Given the description of an element on the screen output the (x, y) to click on. 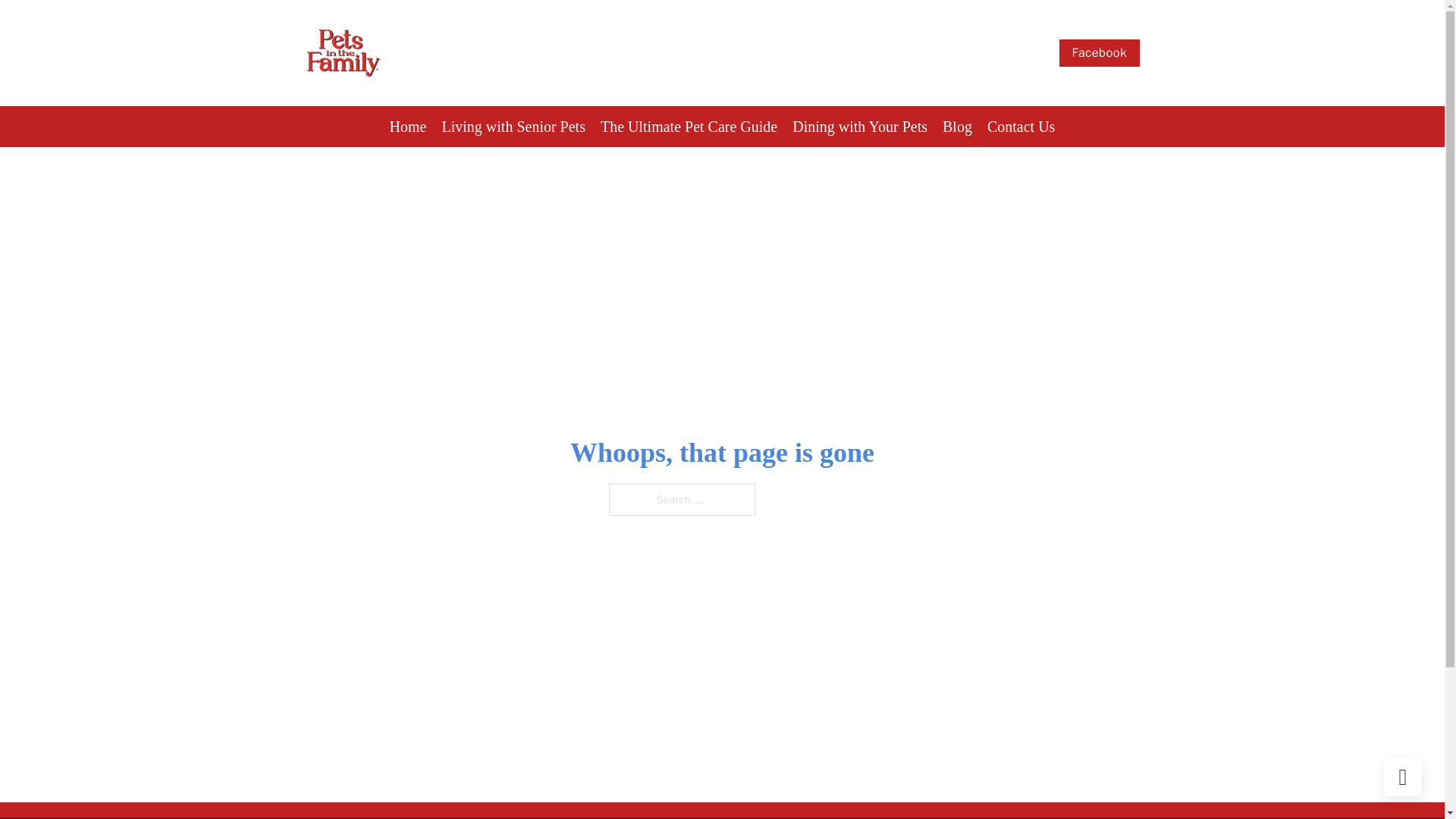
The Ultimate Pet Care Guide (688, 126)
Facebook (1099, 52)
Contact Us (1020, 126)
Blog (956, 126)
Dining with Your Pets (859, 126)
Home (407, 126)
Living with Senior Pets (512, 126)
